Given the description of an element on the screen output the (x, y) to click on. 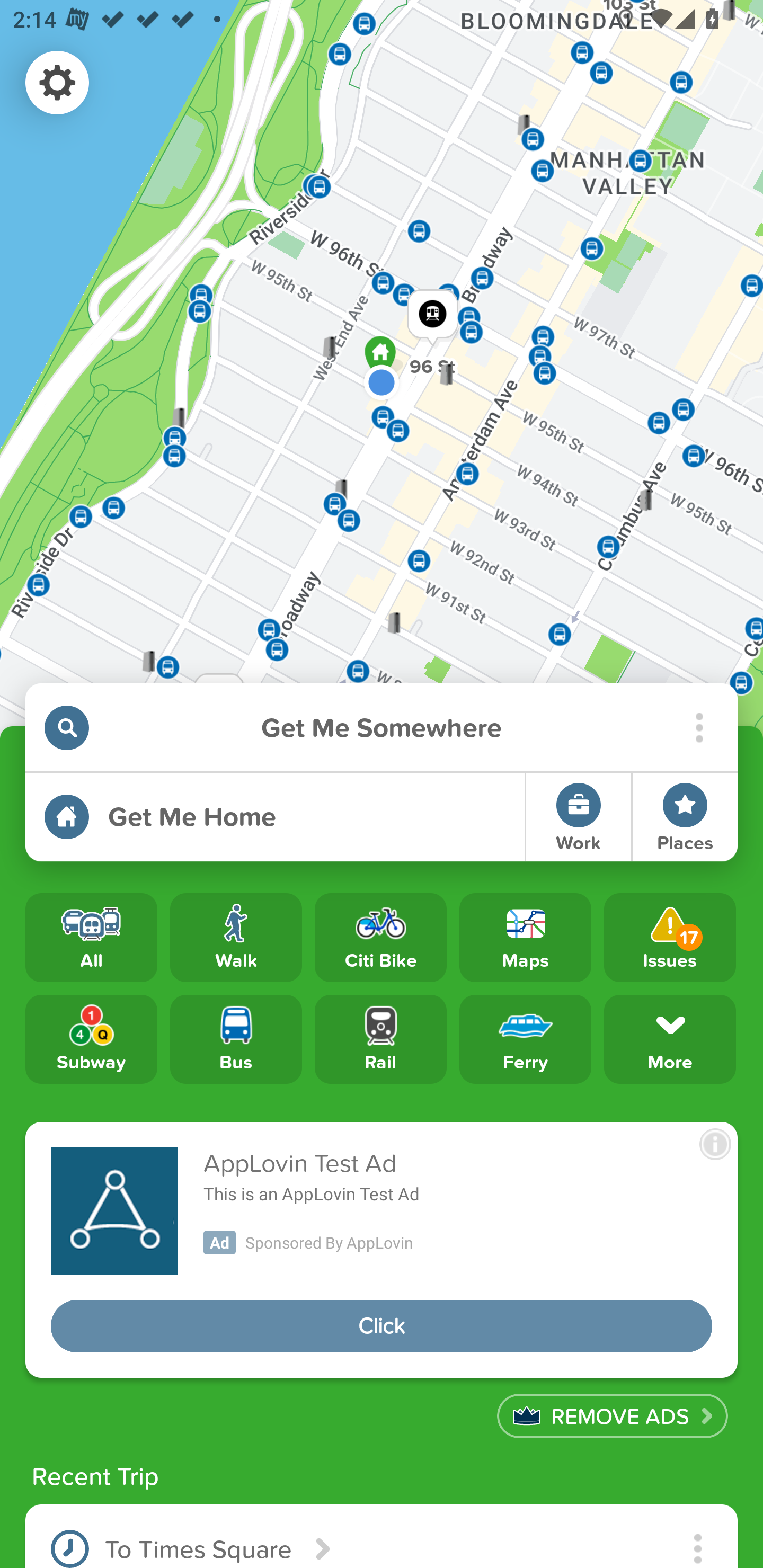
Bus (236, 1038)
